Given the description of an element on the screen output the (x, y) to click on. 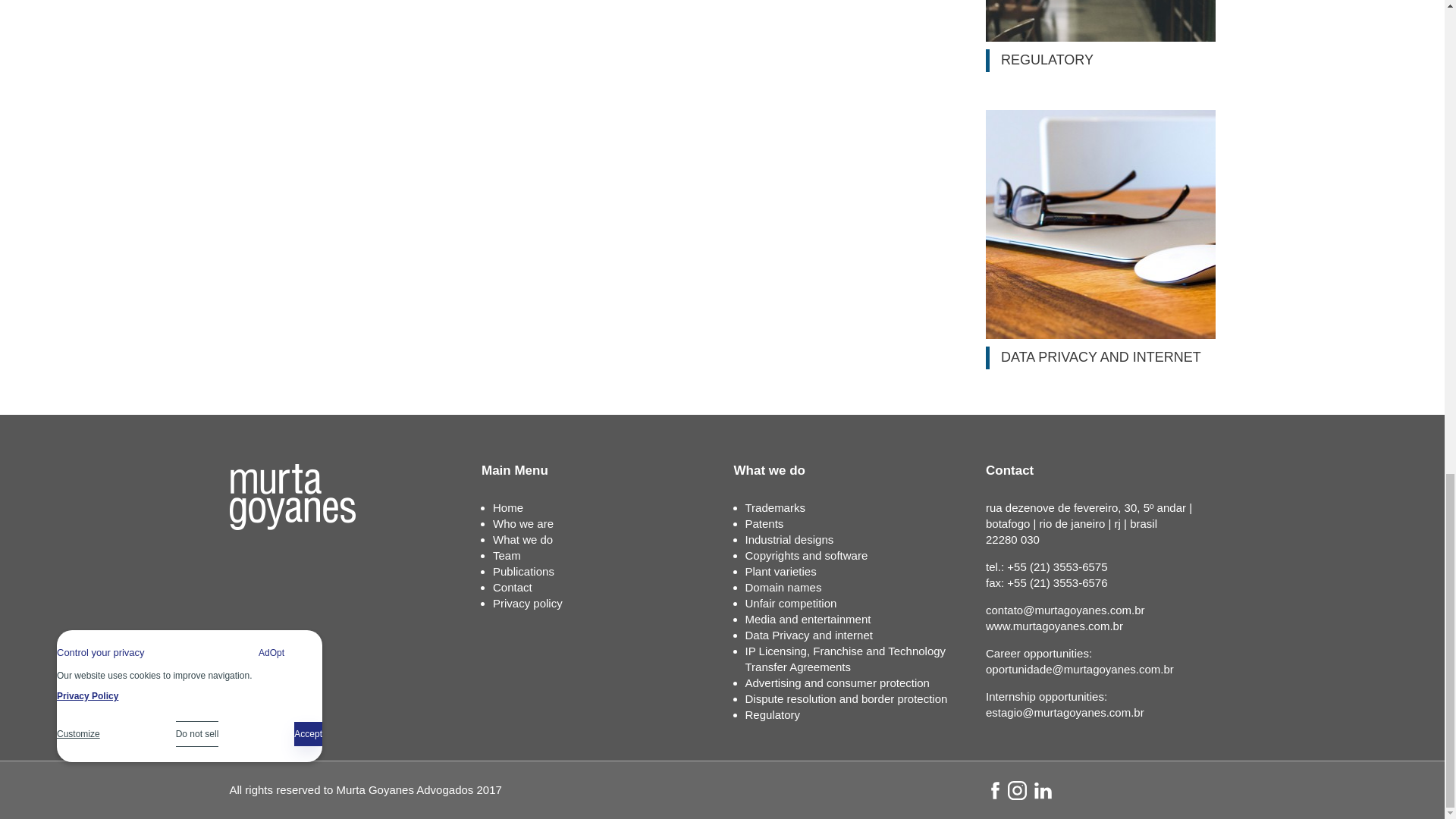
REGULATORY (1100, 36)
Domain names (782, 586)
Privacy policy (527, 603)
Patents (763, 522)
Publications (523, 571)
What we do (523, 539)
Who we are (523, 522)
Home (507, 507)
Industrial designs (788, 539)
Plant varieties (779, 571)
